Given the description of an element on the screen output the (x, y) to click on. 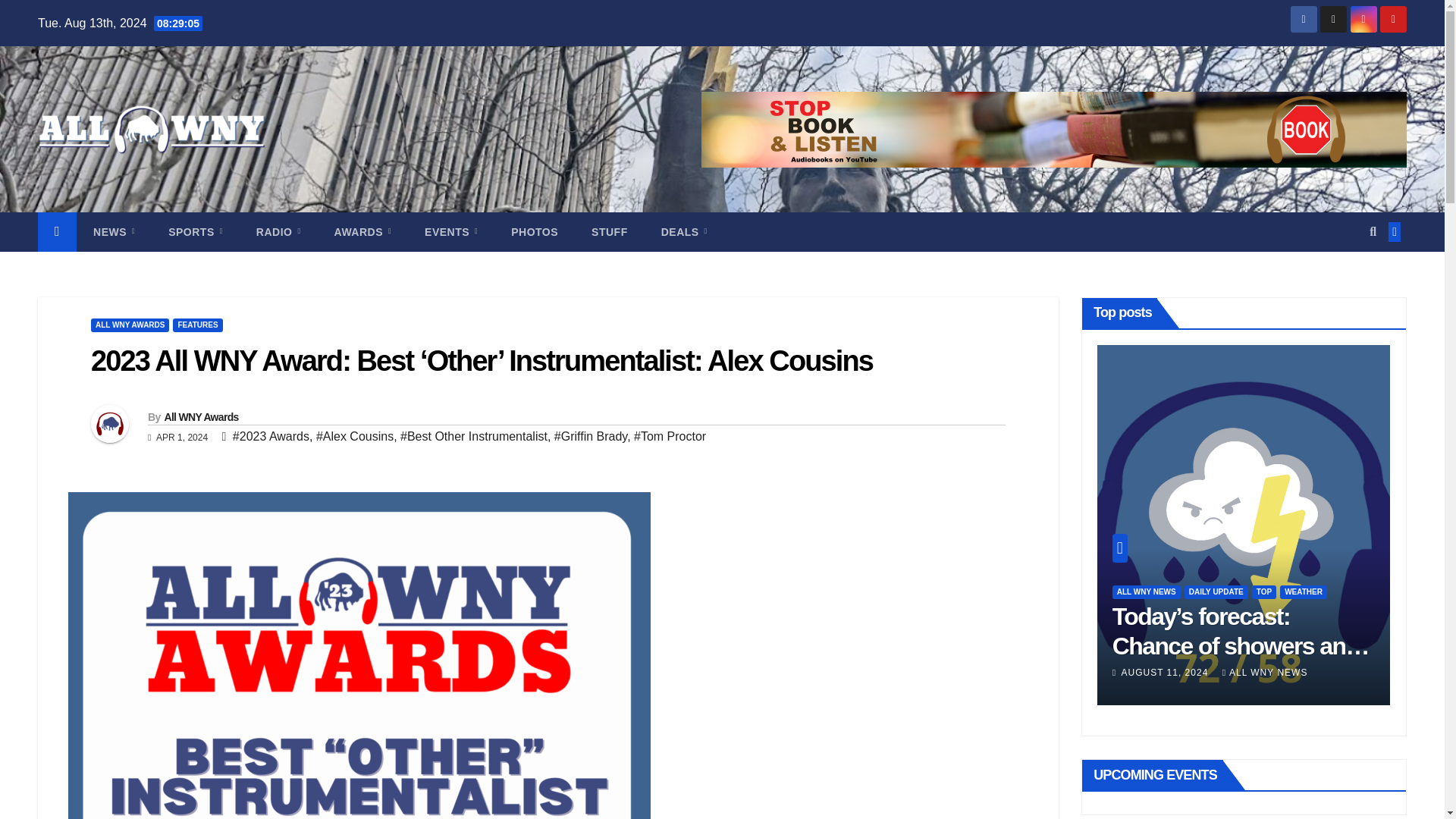
NEWS (114, 231)
Sports (195, 231)
SPORTS (195, 231)
News (114, 231)
RADIO (278, 231)
